Given the description of an element on the screen output the (x, y) to click on. 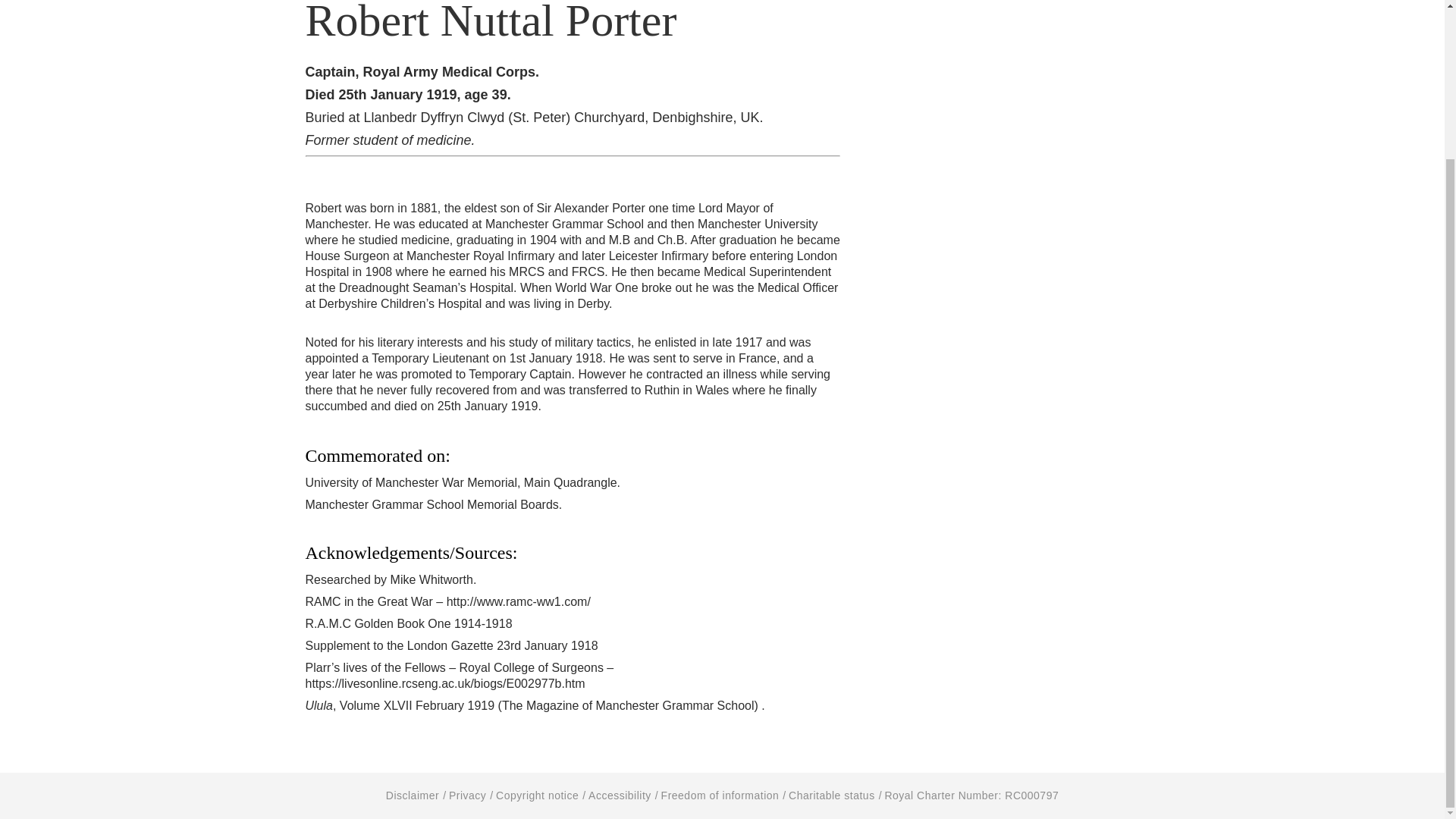
Privacy (467, 795)
Accessibility (619, 795)
Royal Charter Number: RC000797 (970, 795)
Copyright notice (537, 795)
Freedom of information (719, 795)
Charitable status (832, 795)
Disclaimer (412, 795)
